Given the description of an element on the screen output the (x, y) to click on. 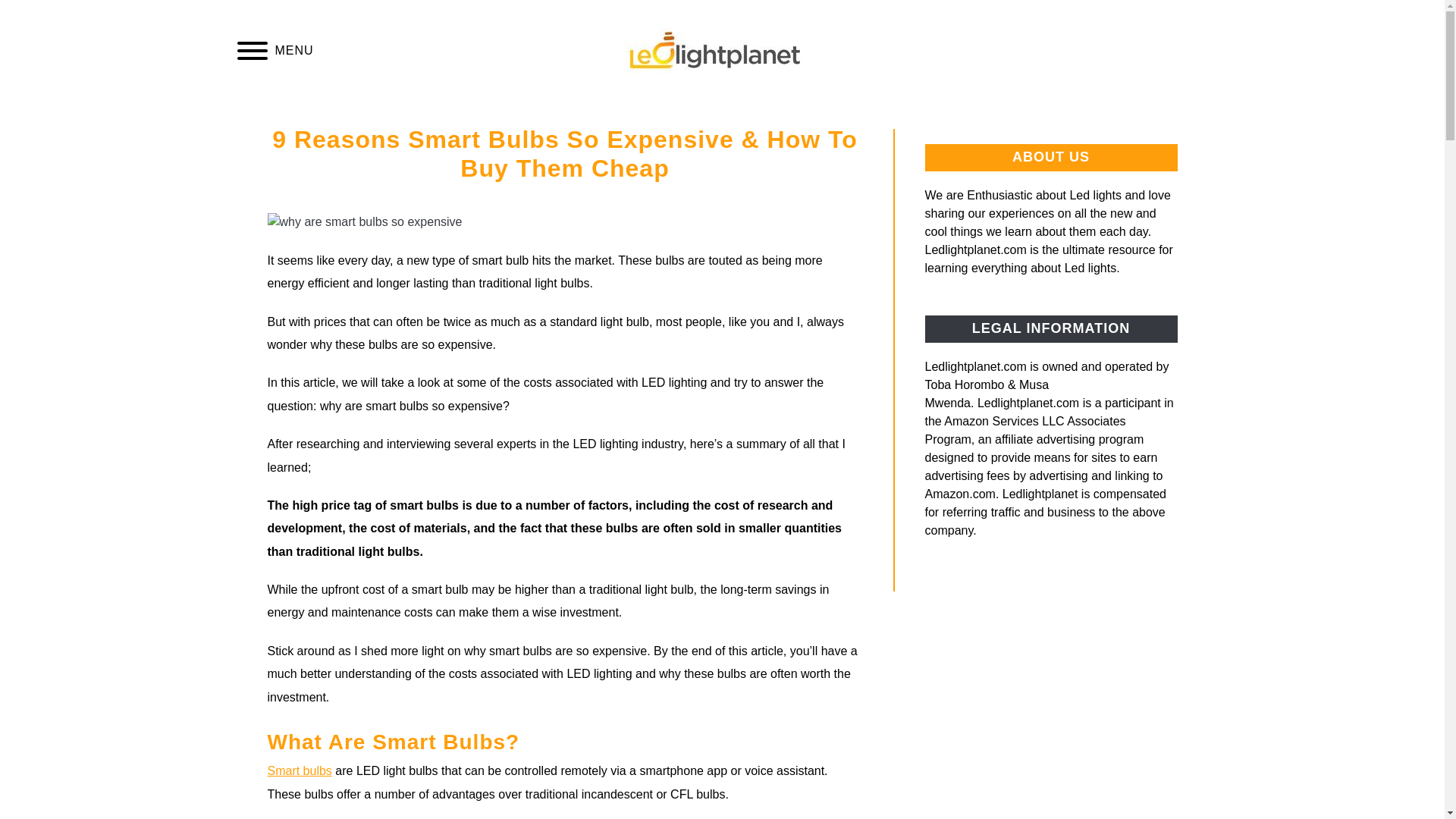
Search (1203, 49)
MENU (251, 53)
Smart bulbs (298, 770)
